Given the description of an element on the screen output the (x, y) to click on. 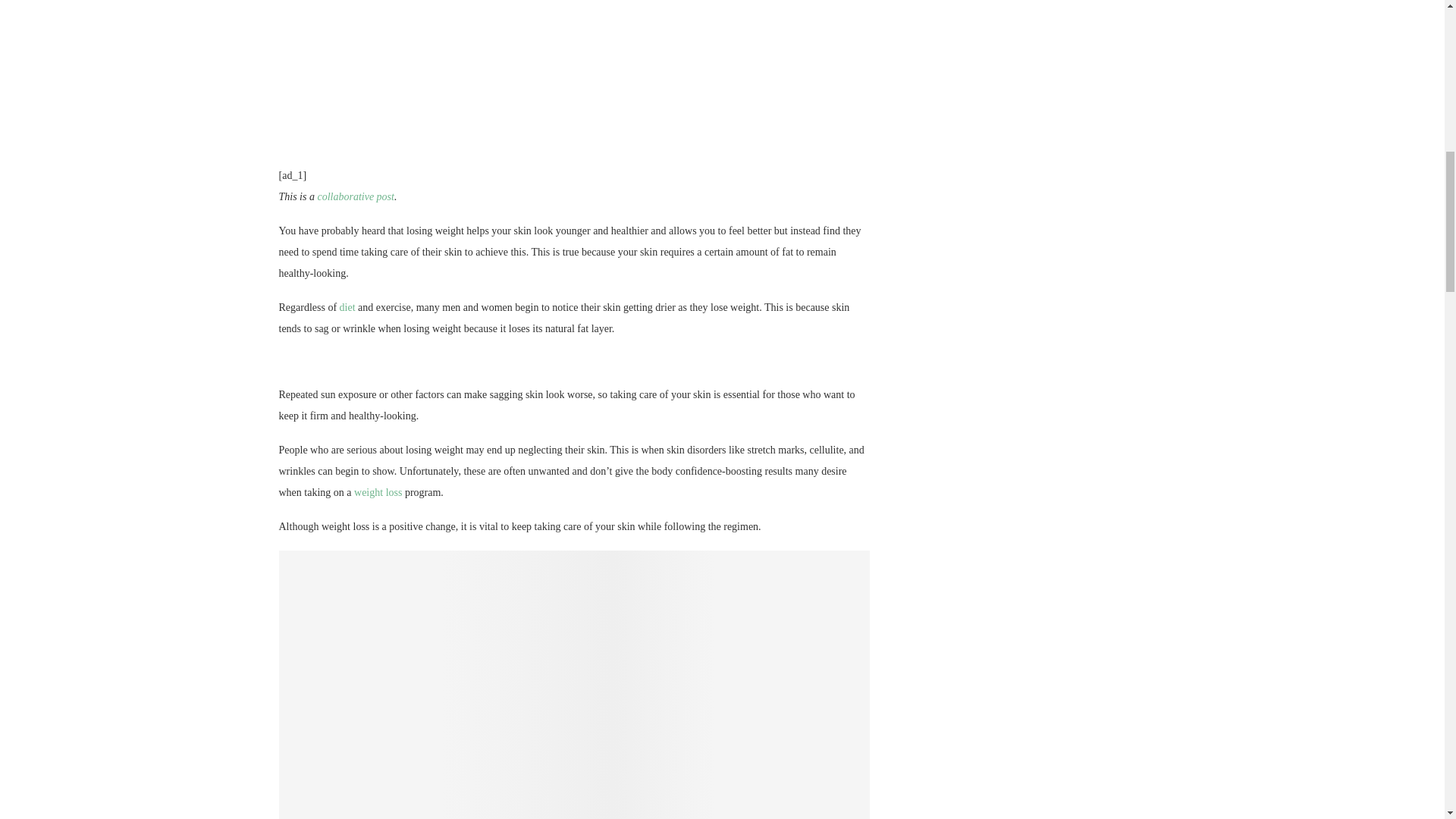
weight loss (377, 491)
diet (347, 307)
collaborative post (355, 196)
